Given the description of an element on the screen output the (x, y) to click on. 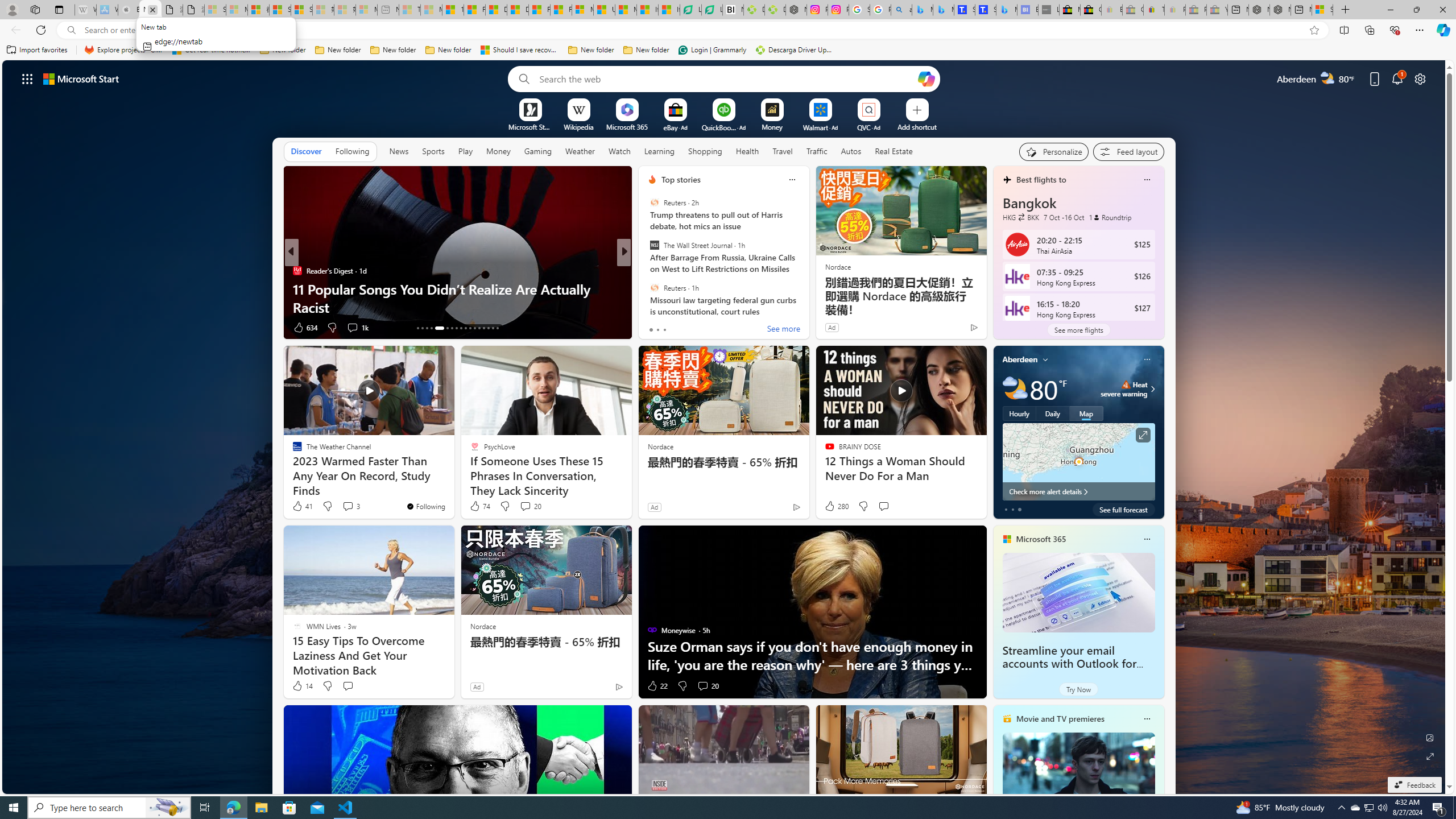
4 Like (651, 327)
You're following The Weather Channel (425, 505)
Nordace.com (663, 288)
Class: weather-arrow-glyph (1152, 388)
AutomationID: tab-13 (417, 328)
View comments 20 Comment (707, 685)
Microsoft Bing Travel - Flights from Hong Kong to Bangkok (922, 9)
Bangkok HKG BKK 7 Oct -16 Oct 1 Roundtrip (1077, 207)
